Given the description of an element on the screen output the (x, y) to click on. 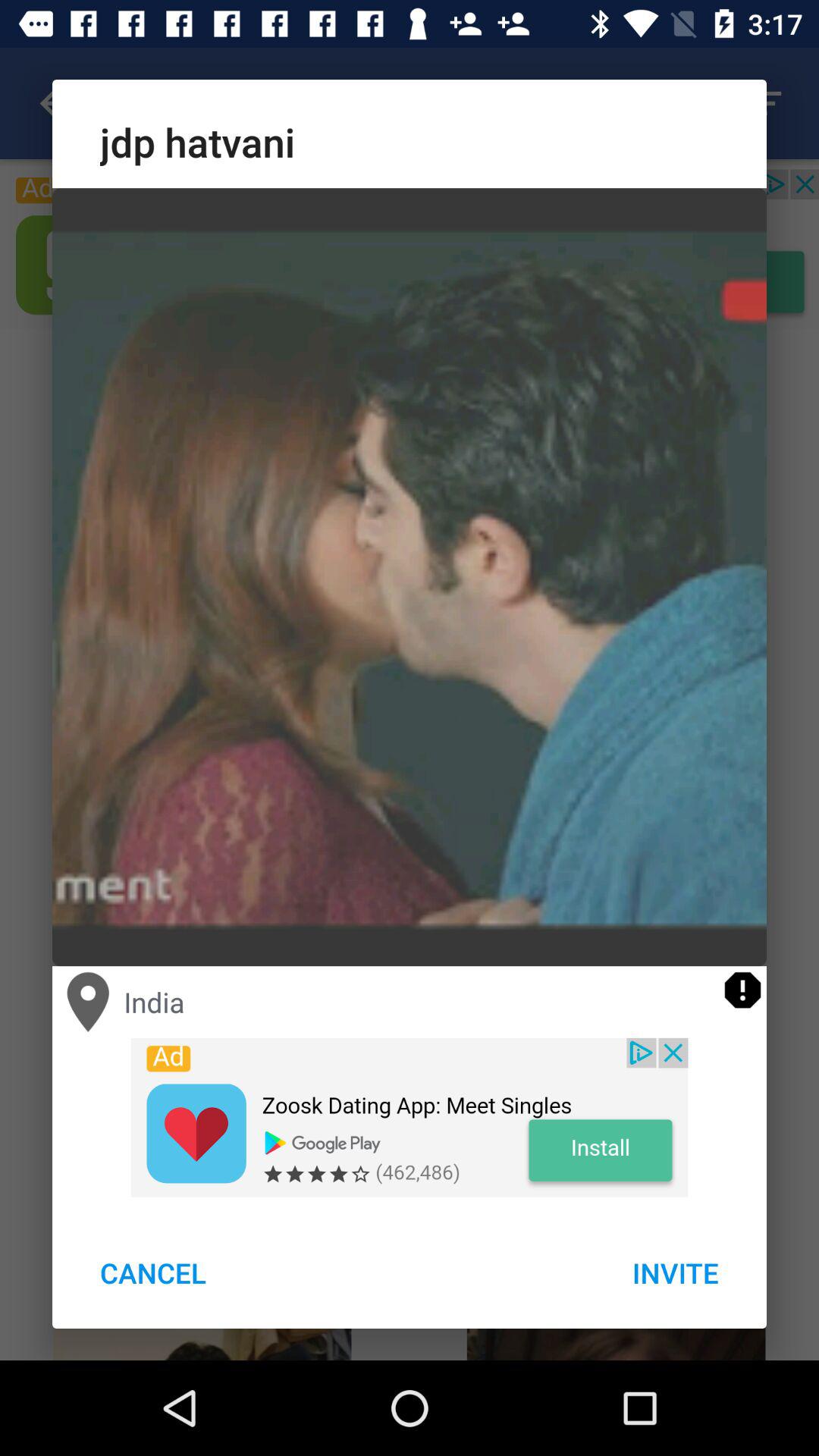
click on zoosk dating advertisement (409, 1117)
